Given the description of an element on the screen output the (x, y) to click on. 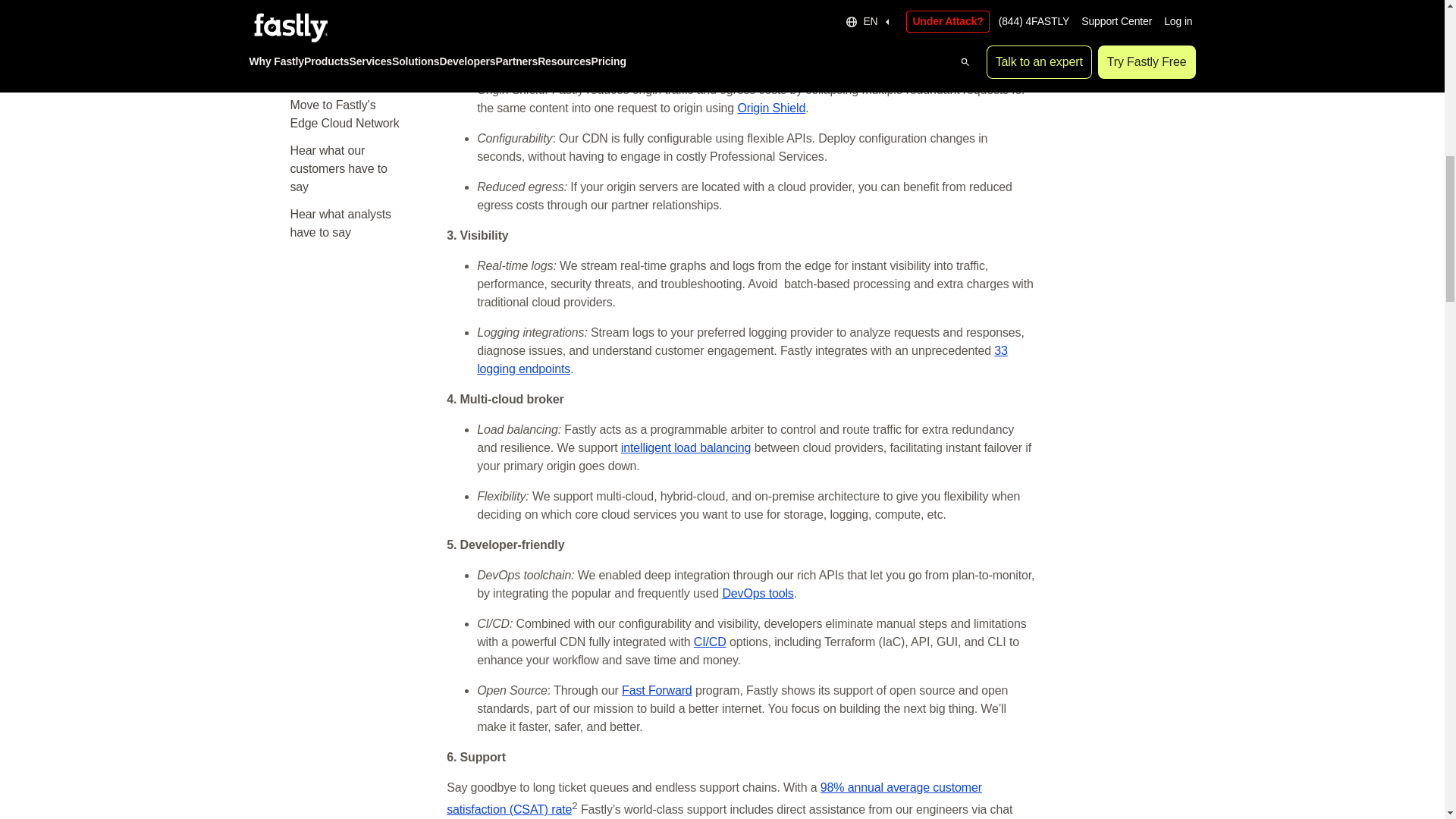
Origin Shield (770, 107)
Fast Forward (657, 689)
DevOps tools (757, 593)
150ms on a global average (783, 10)
33 logging endpoints (742, 359)
intelligent load balancing (686, 447)
